Given the description of an element on the screen output the (x, y) to click on. 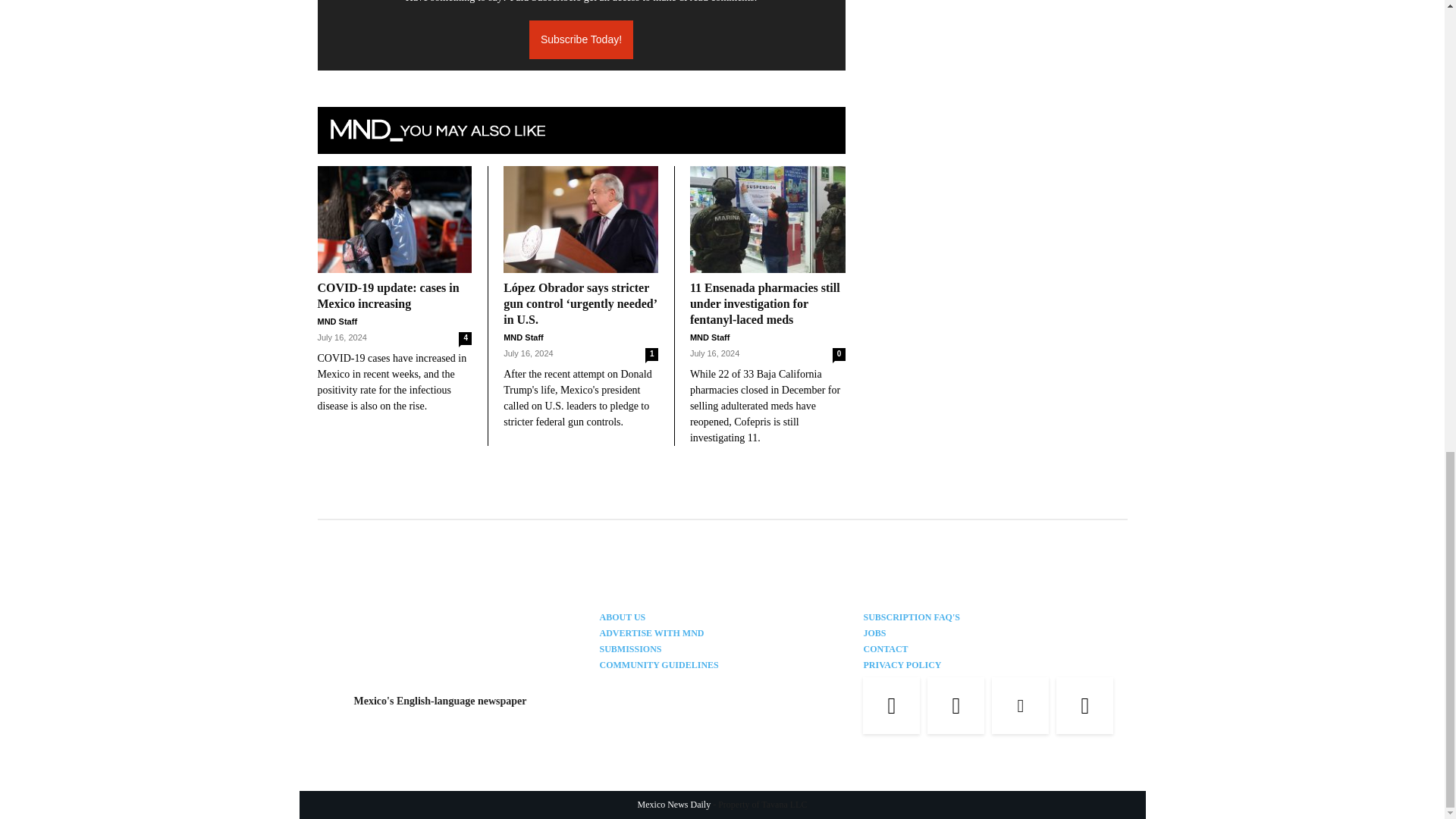
COVID-19 update: cases in Mexico increasing (387, 295)
COVID-19 update: cases in Mexico increasing (394, 218)
